Given the description of an element on the screen output the (x, y) to click on. 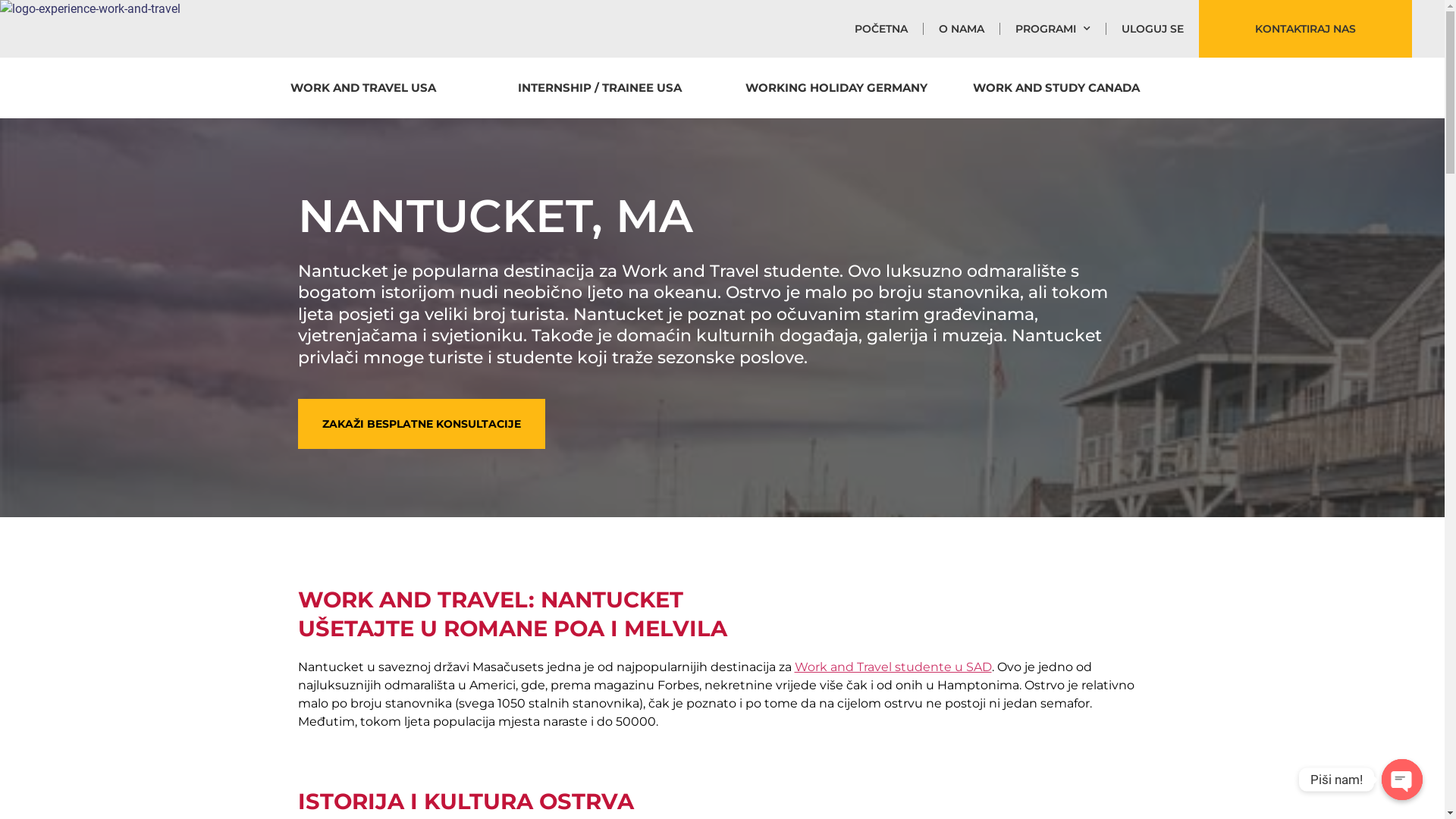
KONTAKTIRAJ NAS Element type: text (1305, 28)
Work and Travel studente u SAD Element type: text (892, 666)
ULOGUJ SE Element type: text (1152, 28)
PROGRAMI Element type: text (1052, 28)
O NAMA Element type: text (961, 28)
INTERNSHIP / TRAINEE USA Element type: text (598, 87)
WORK AND TRAVEL USA Element type: text (362, 87)
WORKING HOLIDAY GERMANY Element type: text (835, 87)
WORK AND STUDY CANADA Element type: text (1055, 87)
